Given the description of an element on the screen output the (x, y) to click on. 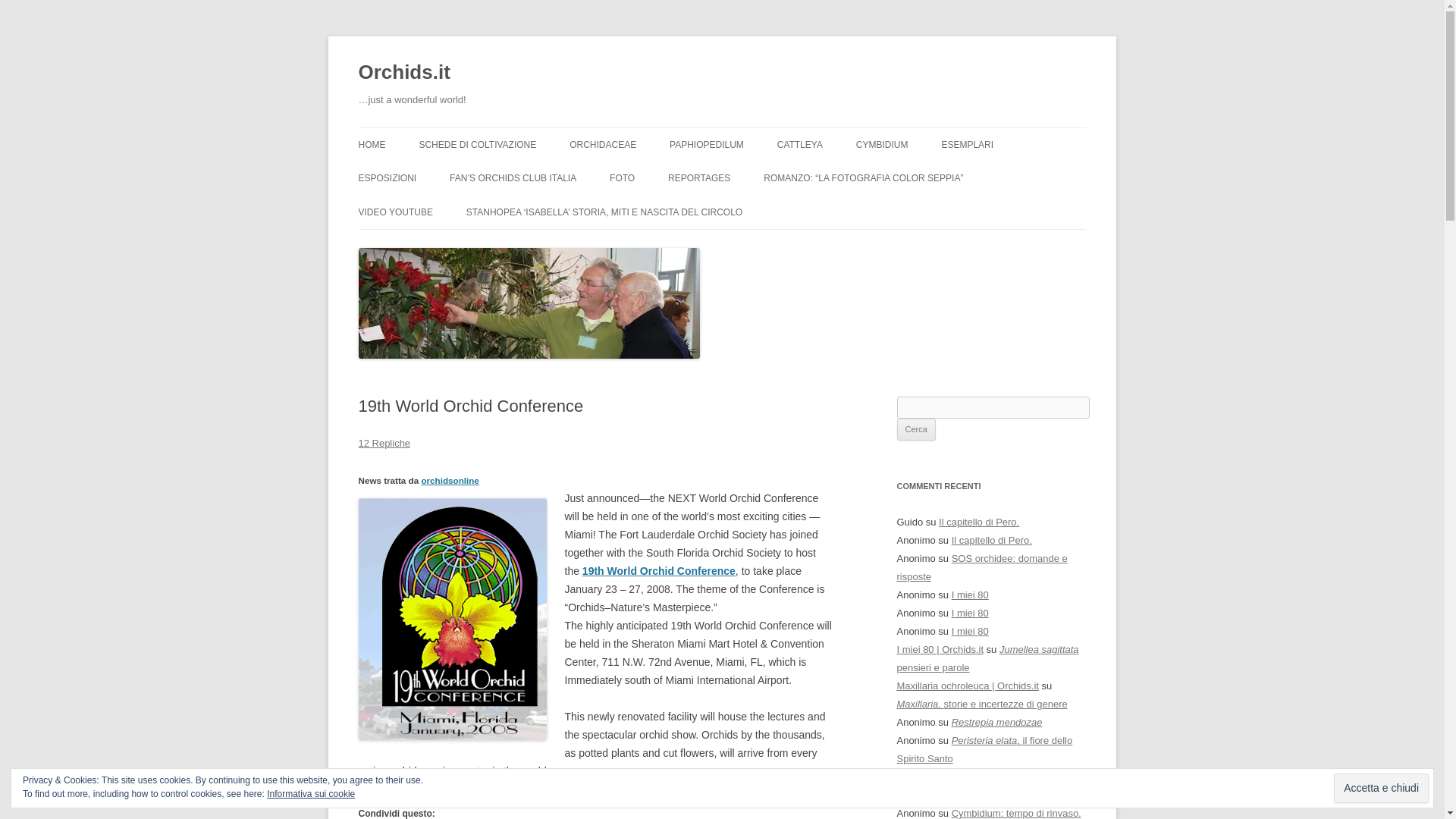
19th World Orchid Conference (658, 571)
INFO (433, 176)
ORCHIDACEAE (602, 144)
ESPOSIZIONI (387, 177)
PAPHIOPEDILUM (706, 144)
CATTLEYA (799, 144)
REPORTAGES (699, 177)
CYMBIDIUM (882, 144)
SCHEDE DI COLTIVAZIONE (477, 144)
orchidsonline (449, 480)
Cerca (915, 429)
Orchids.it (403, 72)
ESEMPLARI (966, 144)
Accetta e chiudi (1380, 788)
